Given the description of an element on the screen output the (x, y) to click on. 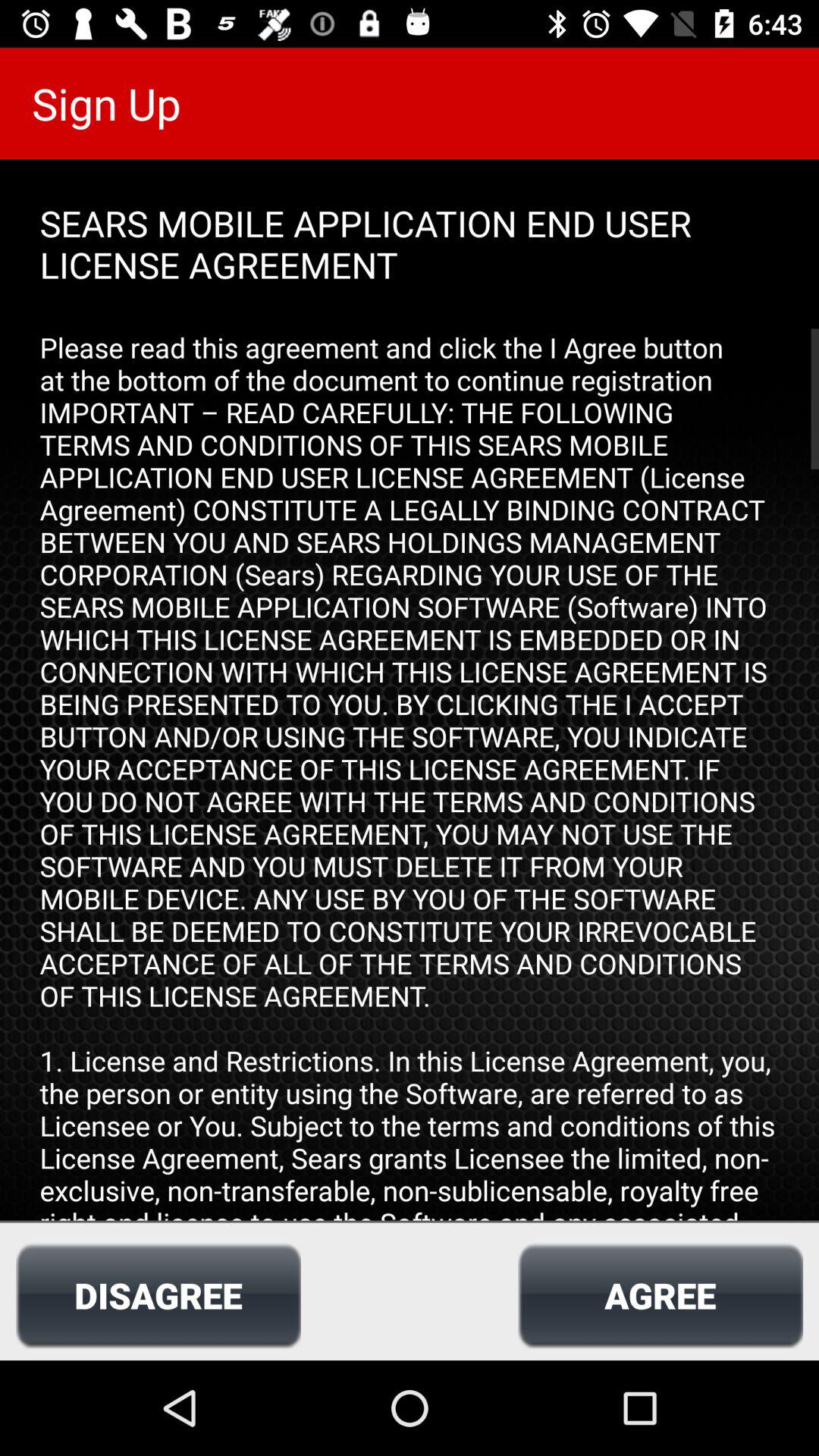
press the disagree item (157, 1295)
